Given the description of an element on the screen output the (x, y) to click on. 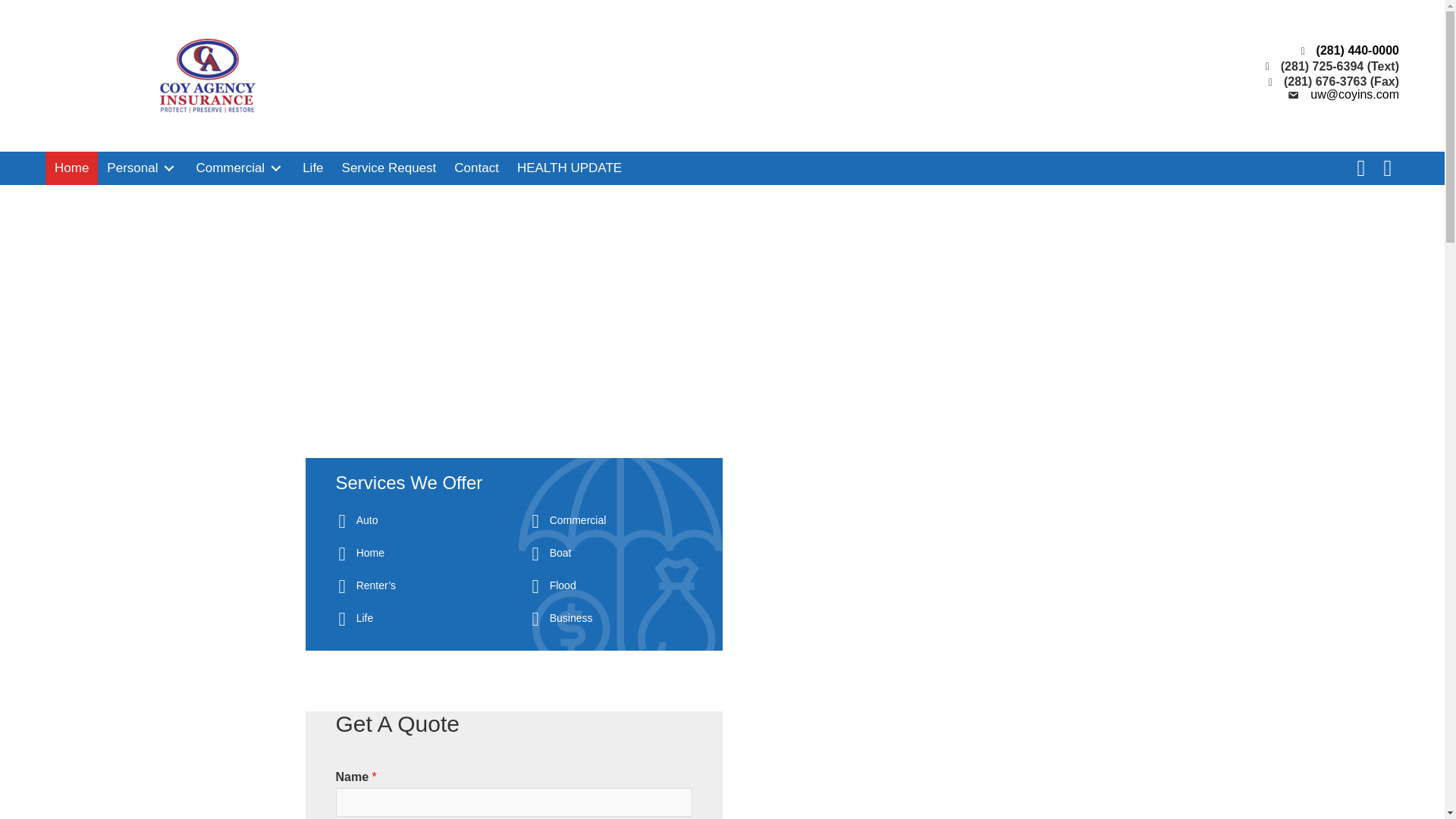
Home (71, 168)
Personal (141, 168)
Service Request (389, 168)
Contact (476, 168)
Life (312, 168)
COY AGENCY (207, 75)
HEALTH UPDATE (569, 168)
Commercial (240, 168)
